Given the description of an element on the screen output the (x, y) to click on. 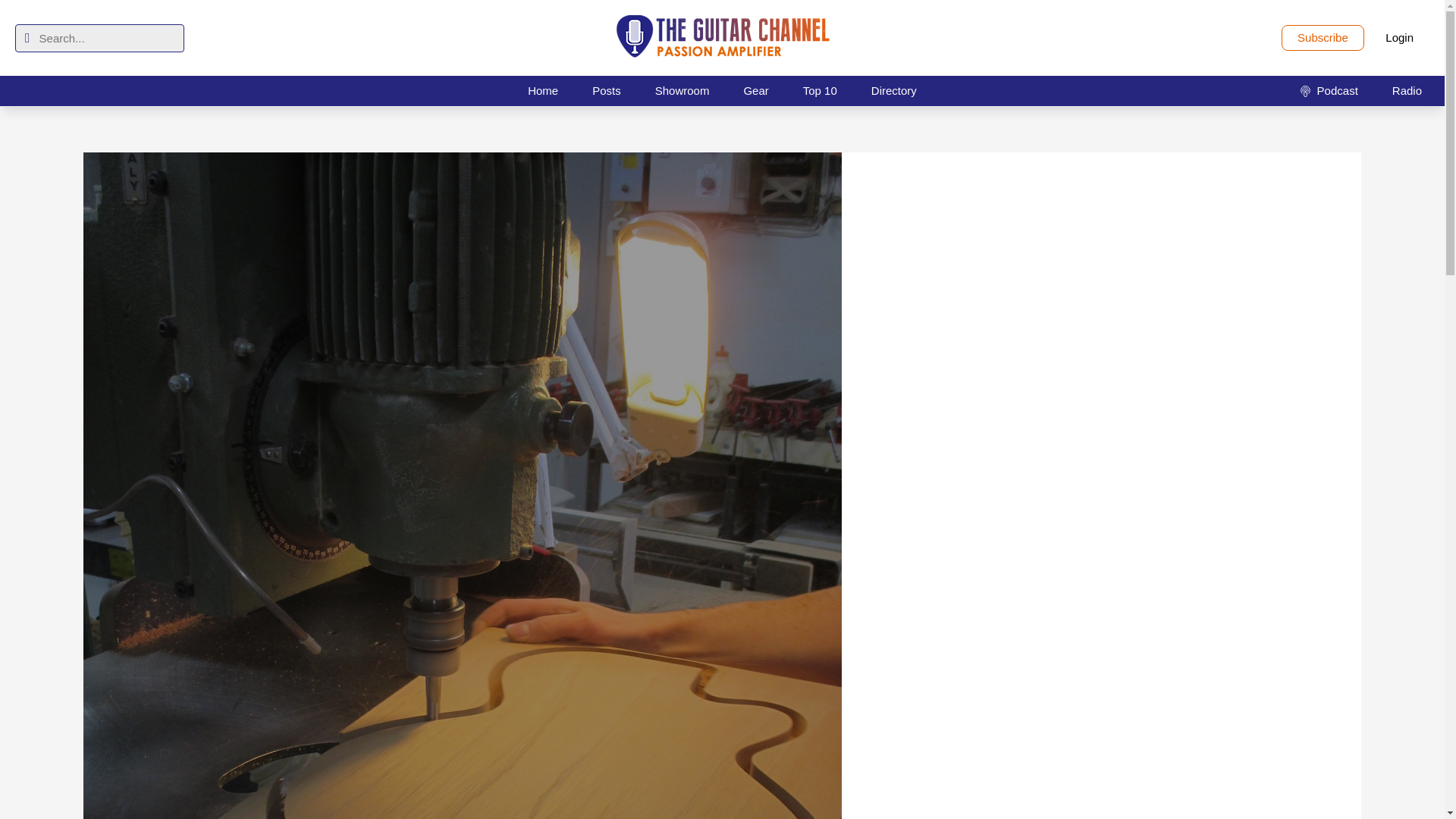
Top 10 (819, 90)
Passion Amplifier (722, 37)
Showroom (682, 90)
Directory (893, 90)
go (27, 38)
Login (1399, 37)
Gear (755, 90)
Posts (606, 90)
Subscribe (1322, 37)
